Given the description of an element on the screen output the (x, y) to click on. 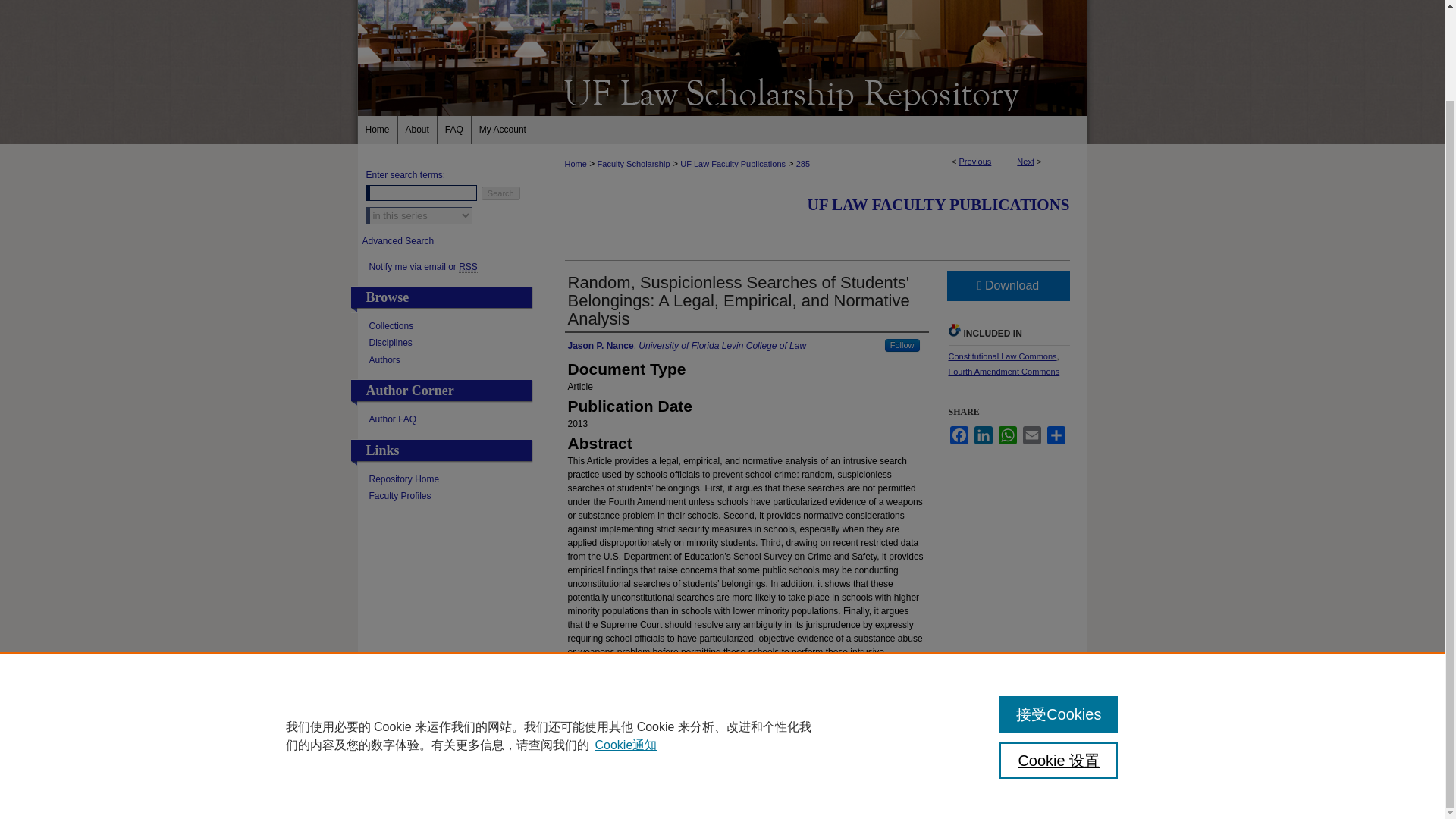
About (416, 130)
Home (377, 130)
Search (500, 192)
Home (377, 130)
LinkedIn (982, 434)
Download (1007, 286)
Fourth Amendment Commons (1003, 370)
UF Law Scholarship Repository (721, 91)
Authors (450, 359)
My Account (502, 130)
Fourth Amendment Commons (1003, 370)
Search (500, 192)
WhatsApp (1006, 434)
Search (500, 192)
